Given the description of an element on the screen output the (x, y) to click on. 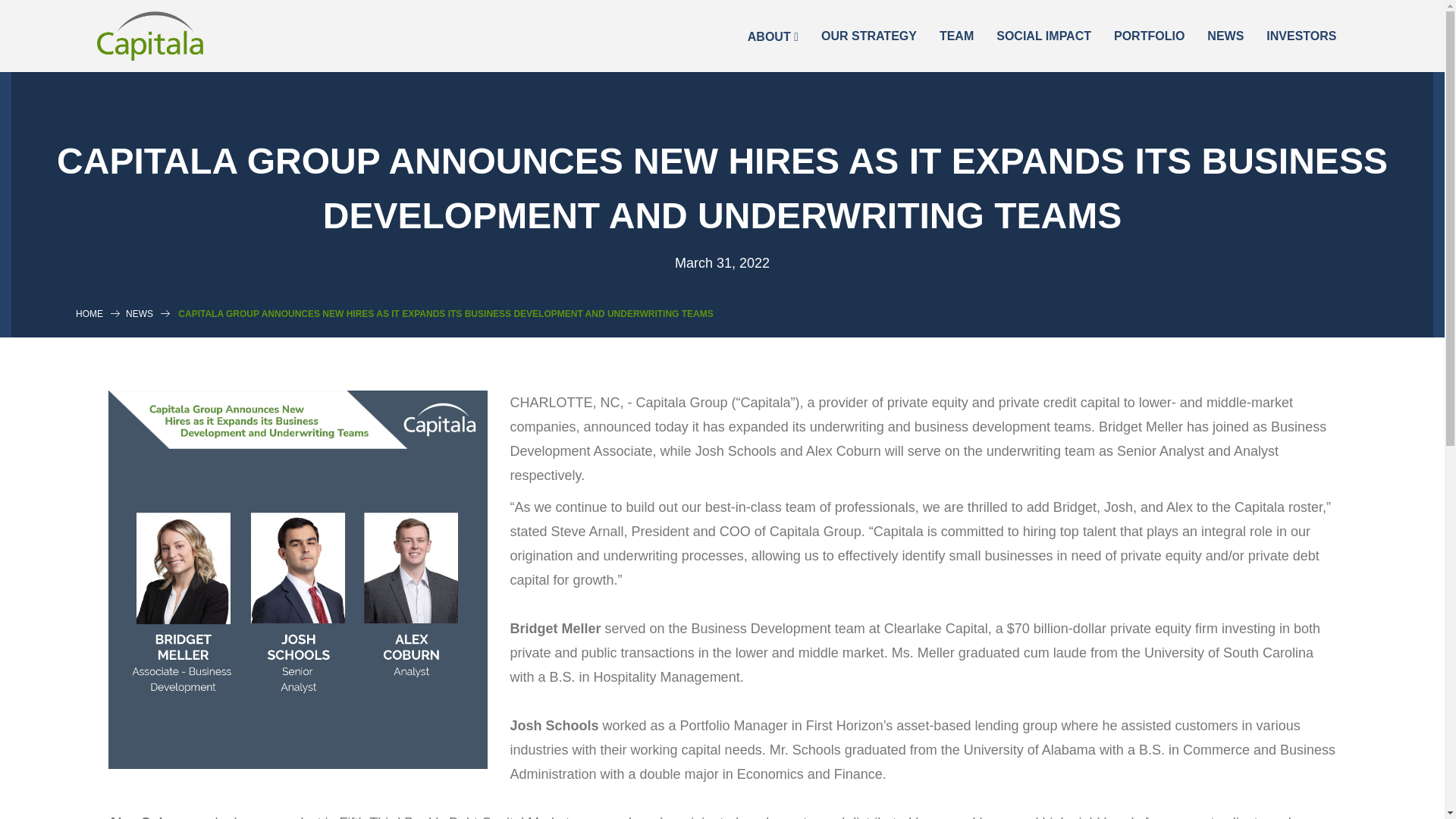
INVESTORS (1301, 35)
ABOUT (772, 36)
HOME (89, 313)
OUR STRATEGY (868, 35)
NEWS (1225, 35)
PORTFOLIO (1148, 35)
TEAM (956, 35)
NEWS (138, 313)
SOCIAL IMPACT (1043, 35)
